Given the description of an element on the screen output the (x, y) to click on. 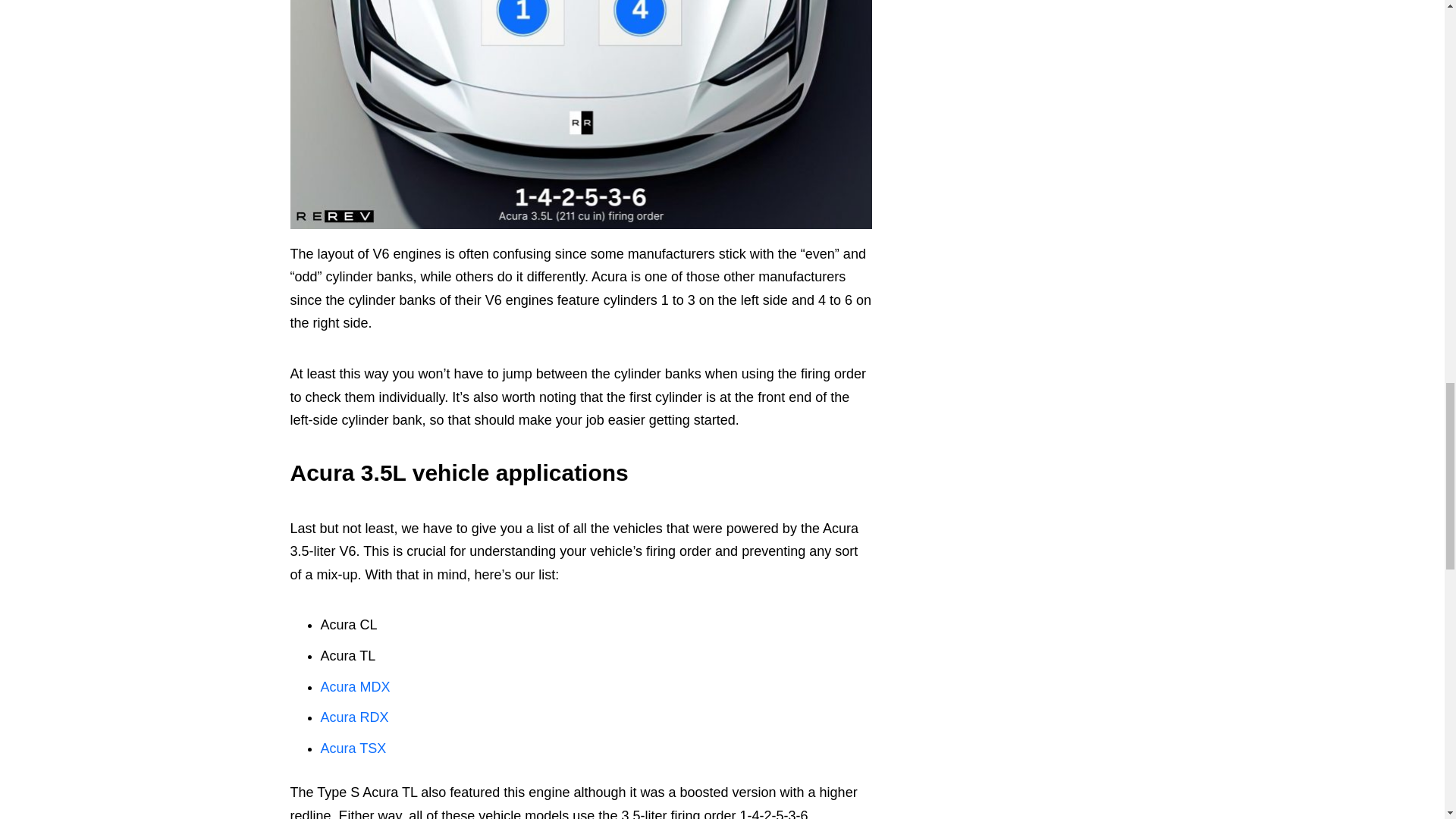
Acura MDX (355, 686)
Acura RDX (354, 717)
Acura TSX (352, 748)
